Given the description of an element on the screen output the (x, y) to click on. 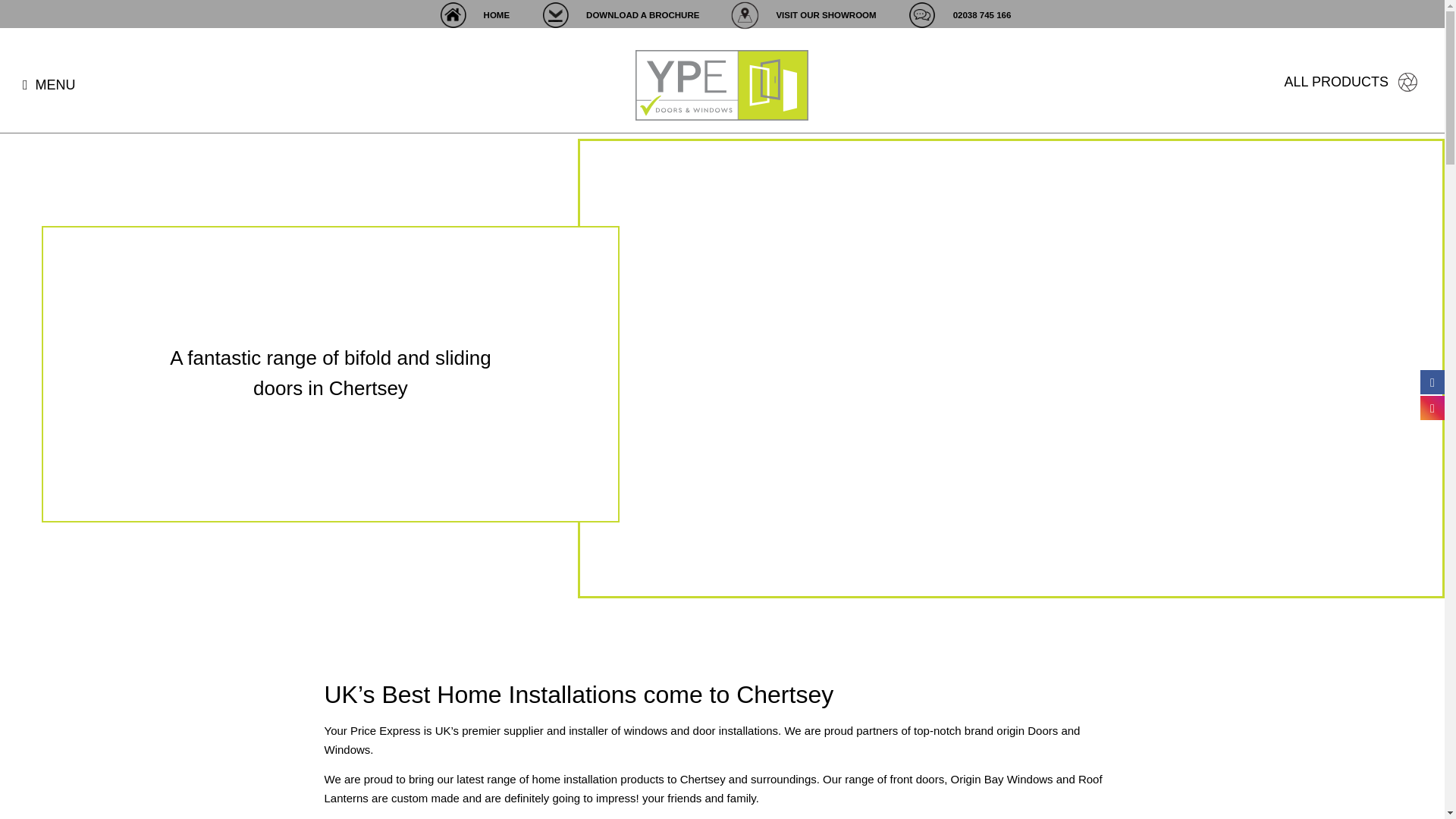
ALL PRODUCTS (1351, 84)
02038 745 166 (956, 15)
DOWNLOAD A BROCHURE (616, 15)
MENU (49, 84)
HOME (472, 15)
VISIT OUR SHOWROOM (800, 15)
